Given the description of an element on the screen output the (x, y) to click on. 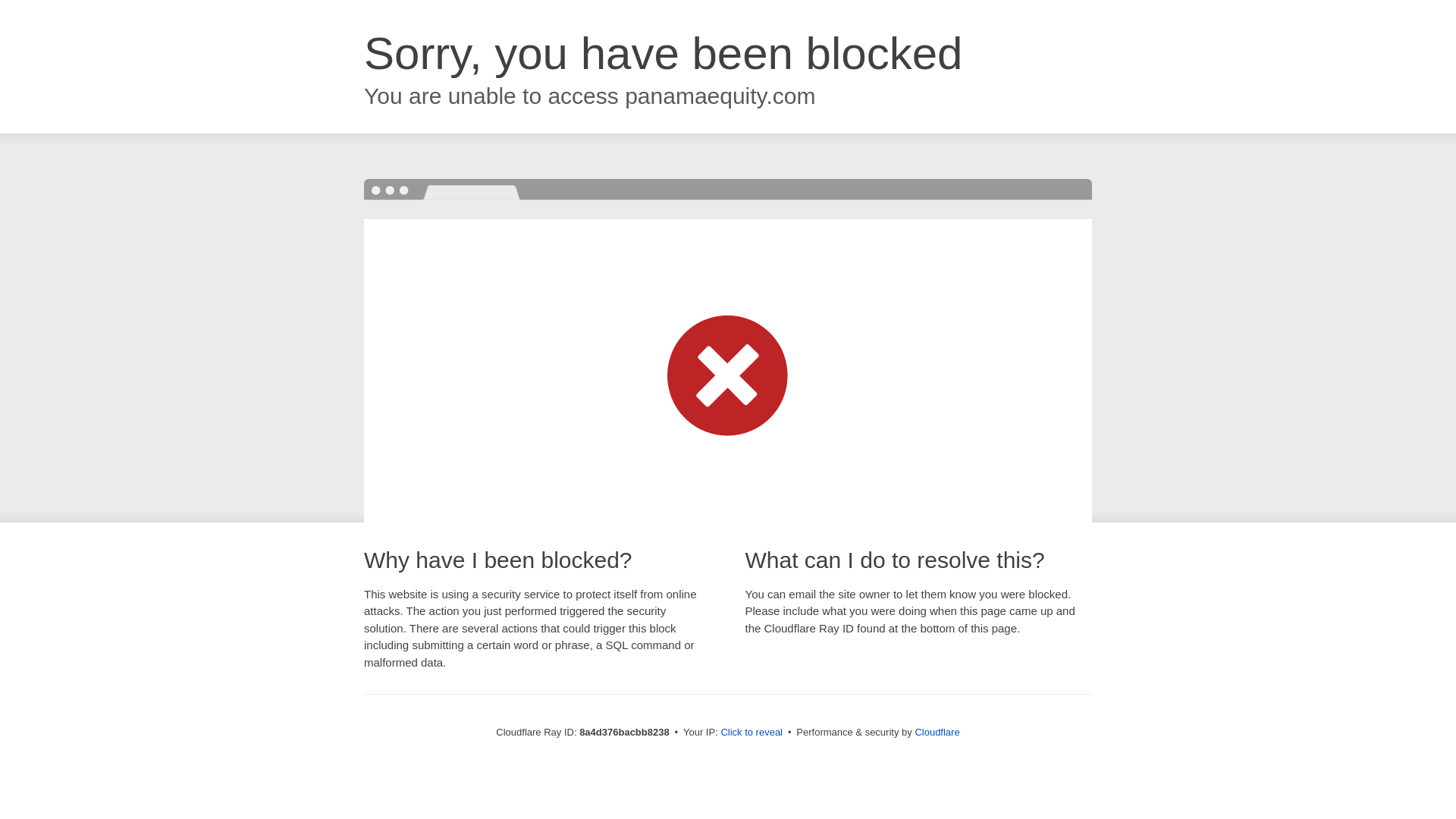
Cloudflare (936, 731)
Click to reveal (751, 732)
